Given the description of an element on the screen output the (x, y) to click on. 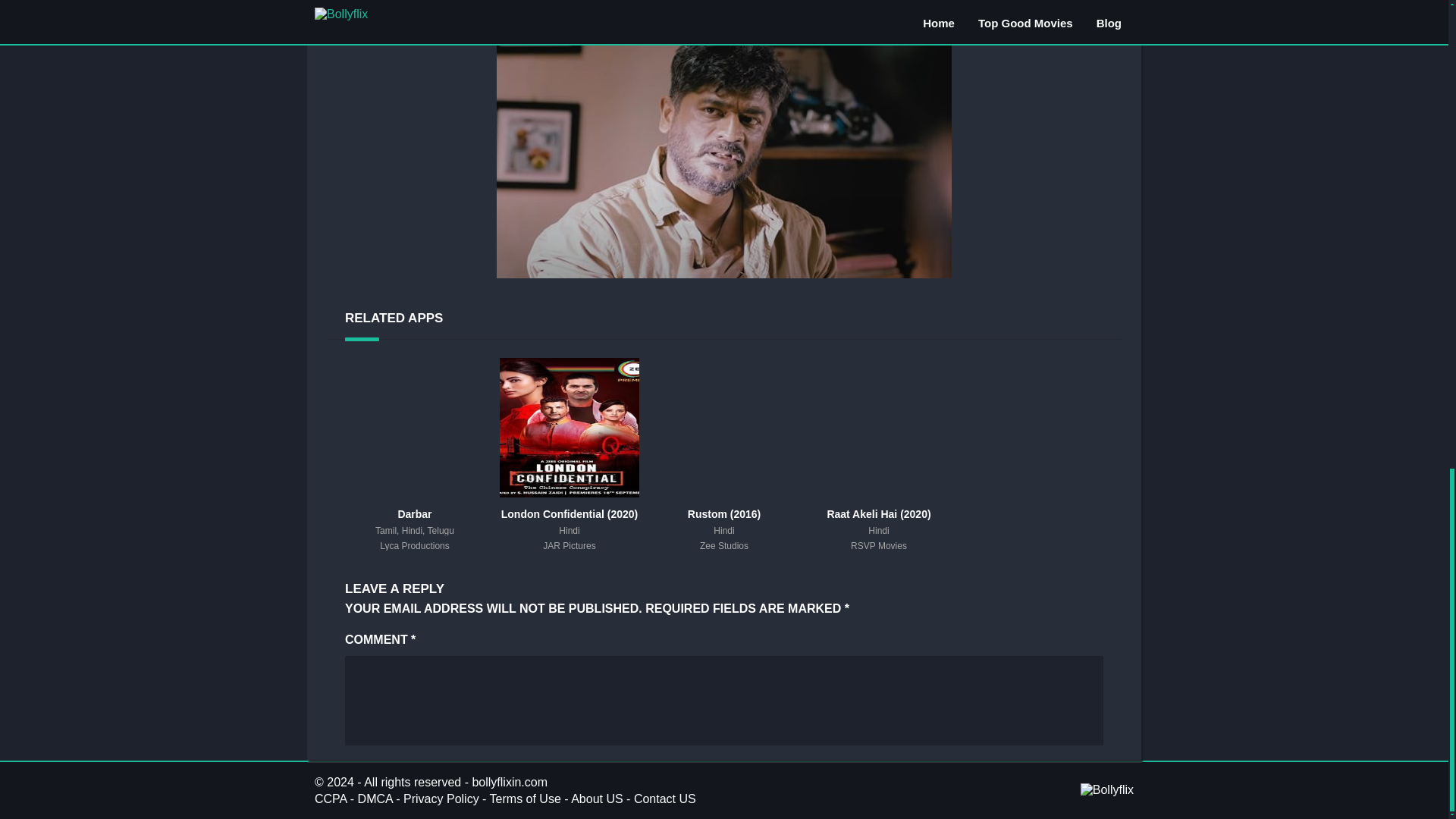
CCPA (330, 798)
Privacy Policy (441, 798)
DMCA (375, 798)
yaanum theeyavan trailer (724, 150)
bollyflixin.com (509, 781)
